Given the description of an element on the screen output the (x, y) to click on. 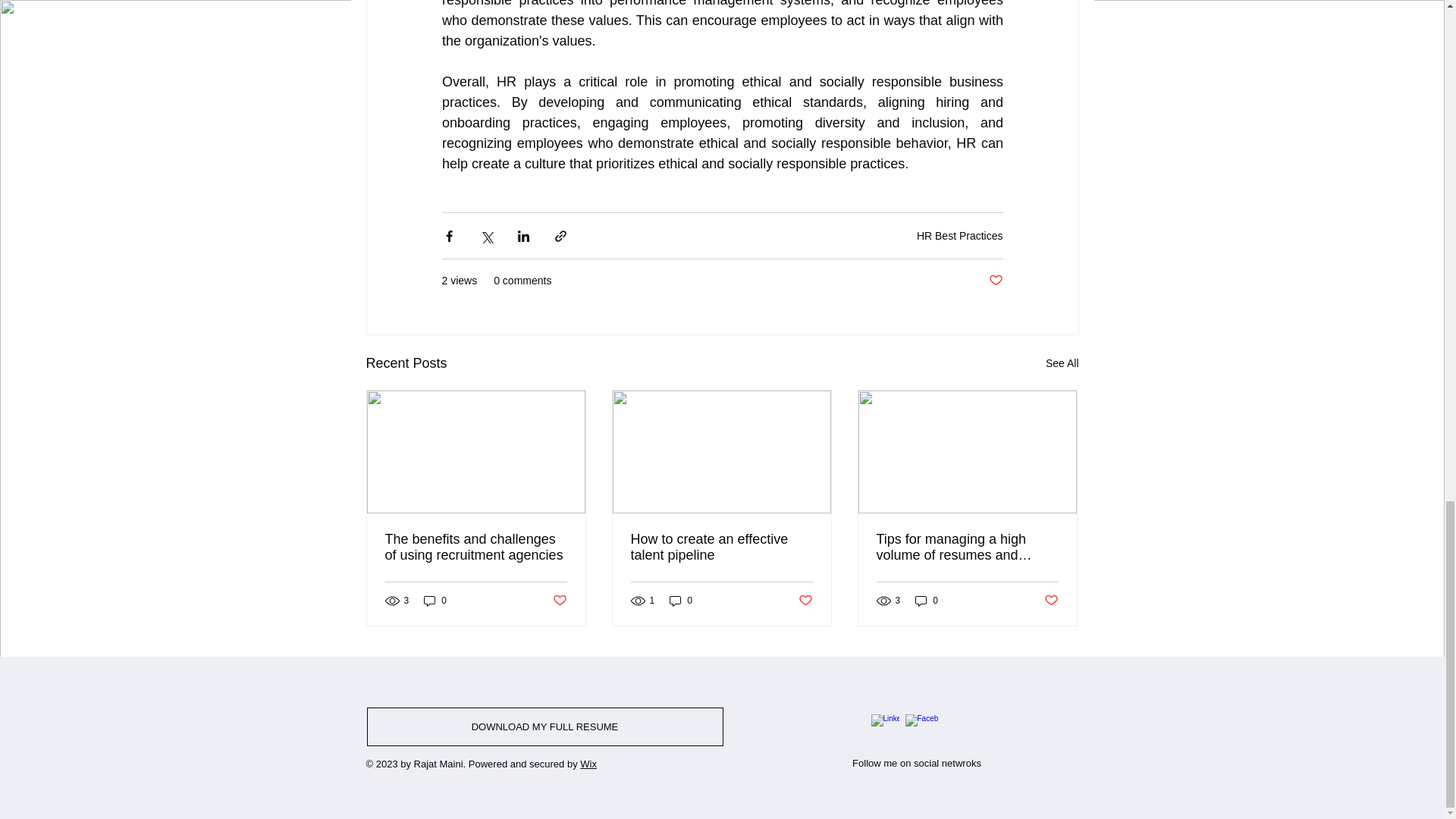
0 (681, 600)
Post not marked as liked (804, 600)
Tips for managing a high volume of resumes and applications (967, 547)
HR Best Practices (960, 235)
How to create an effective talent pipeline (721, 547)
Wix (587, 763)
The benefits and challenges of using recruitment agencies (476, 547)
0 (926, 600)
0 (435, 600)
See All (1061, 363)
Post not marked as liked (1050, 600)
DOWNLOAD MY FULL RESUME (544, 726)
Post not marked as liked (558, 600)
Post not marked as liked (995, 280)
